Given the description of an element on the screen output the (x, y) to click on. 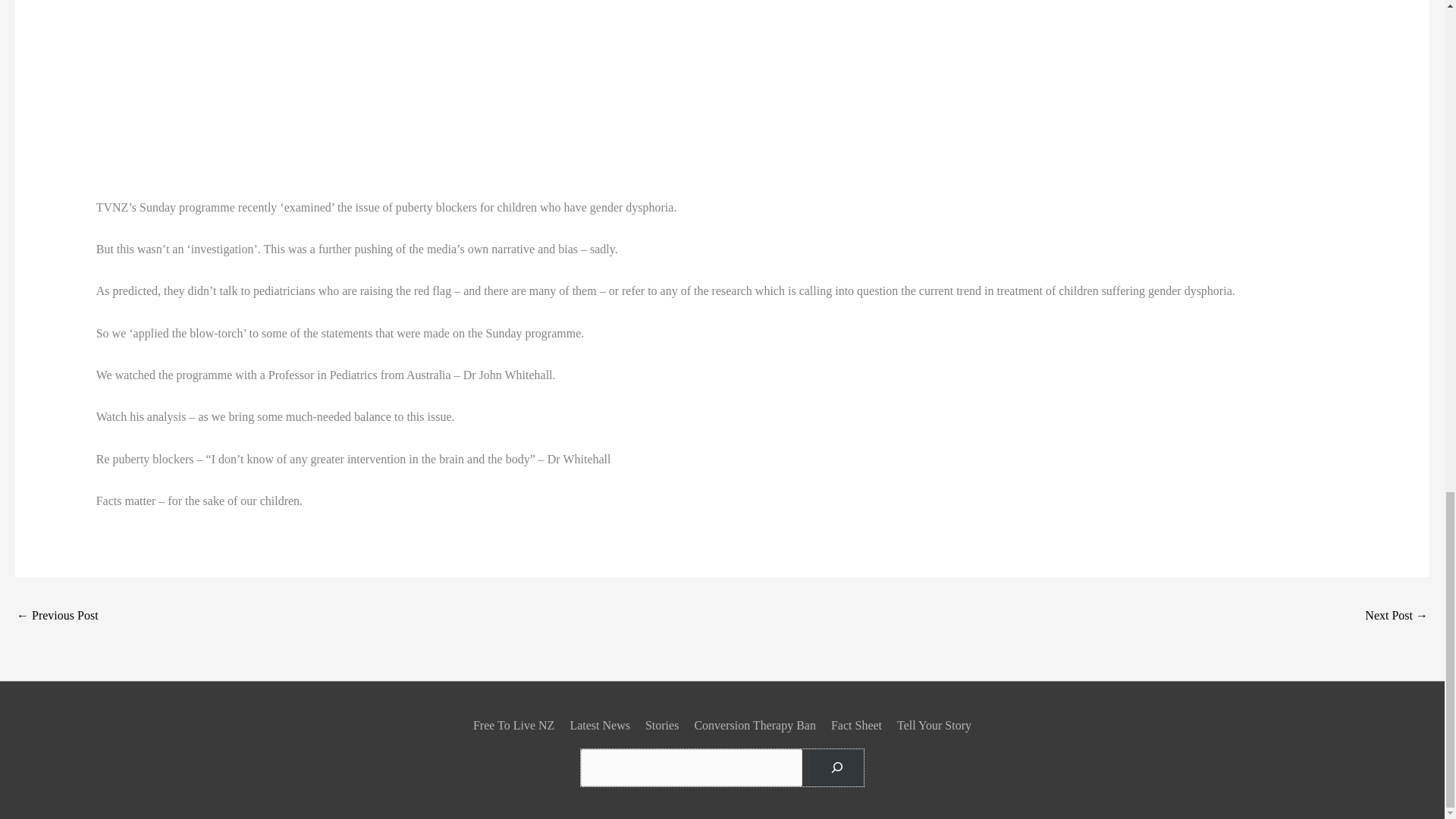
Tell Your Story (931, 725)
Latest News (599, 725)
Stories (661, 725)
Fact Sheet (856, 725)
Free To Live NZ (516, 725)
Victoria: The human rights watchdog is watching you (57, 616)
Conversion Therapy Ban (754, 725)
